Given the description of an element on the screen output the (x, y) to click on. 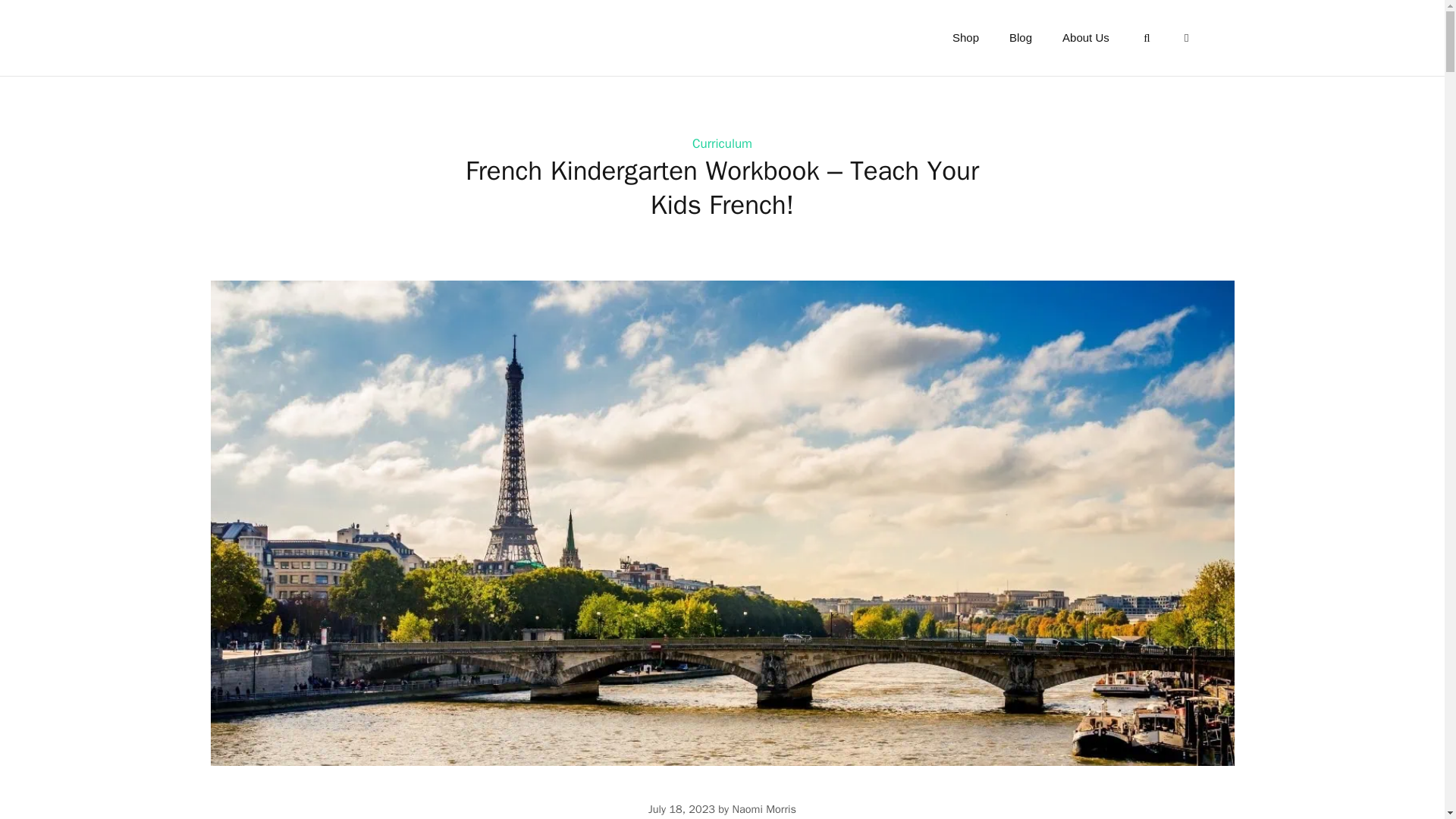
Curriculum (722, 143)
About Us (1085, 37)
Blog (1020, 37)
Shop (965, 37)
View all posts by Naomi Morris (764, 808)
Naomi Morris (764, 808)
View your shopping cart (1186, 37)
